Given the description of an element on the screen output the (x, y) to click on. 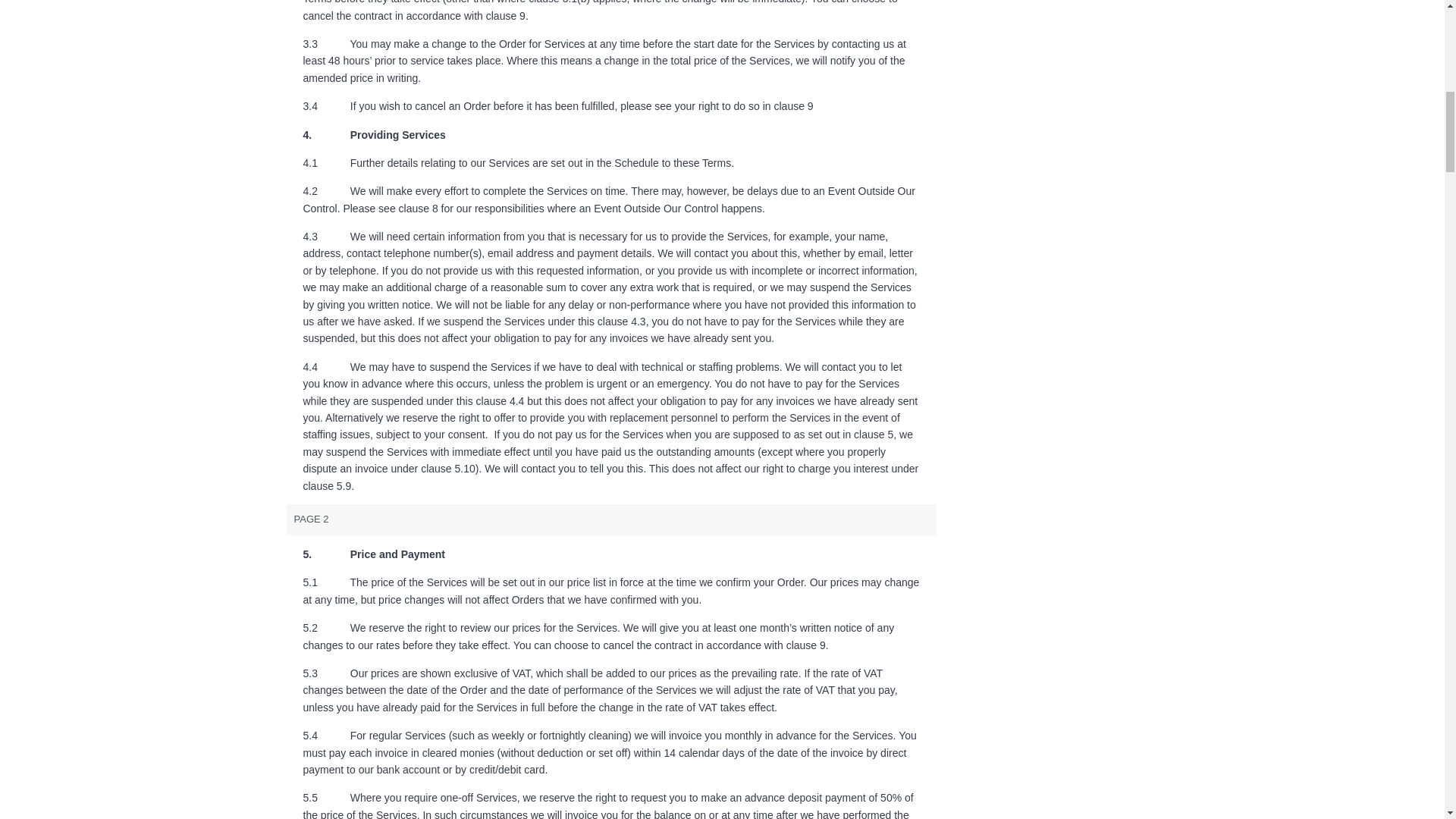
PAGE 2 (611, 519)
